Given the description of an element on the screen output the (x, y) to click on. 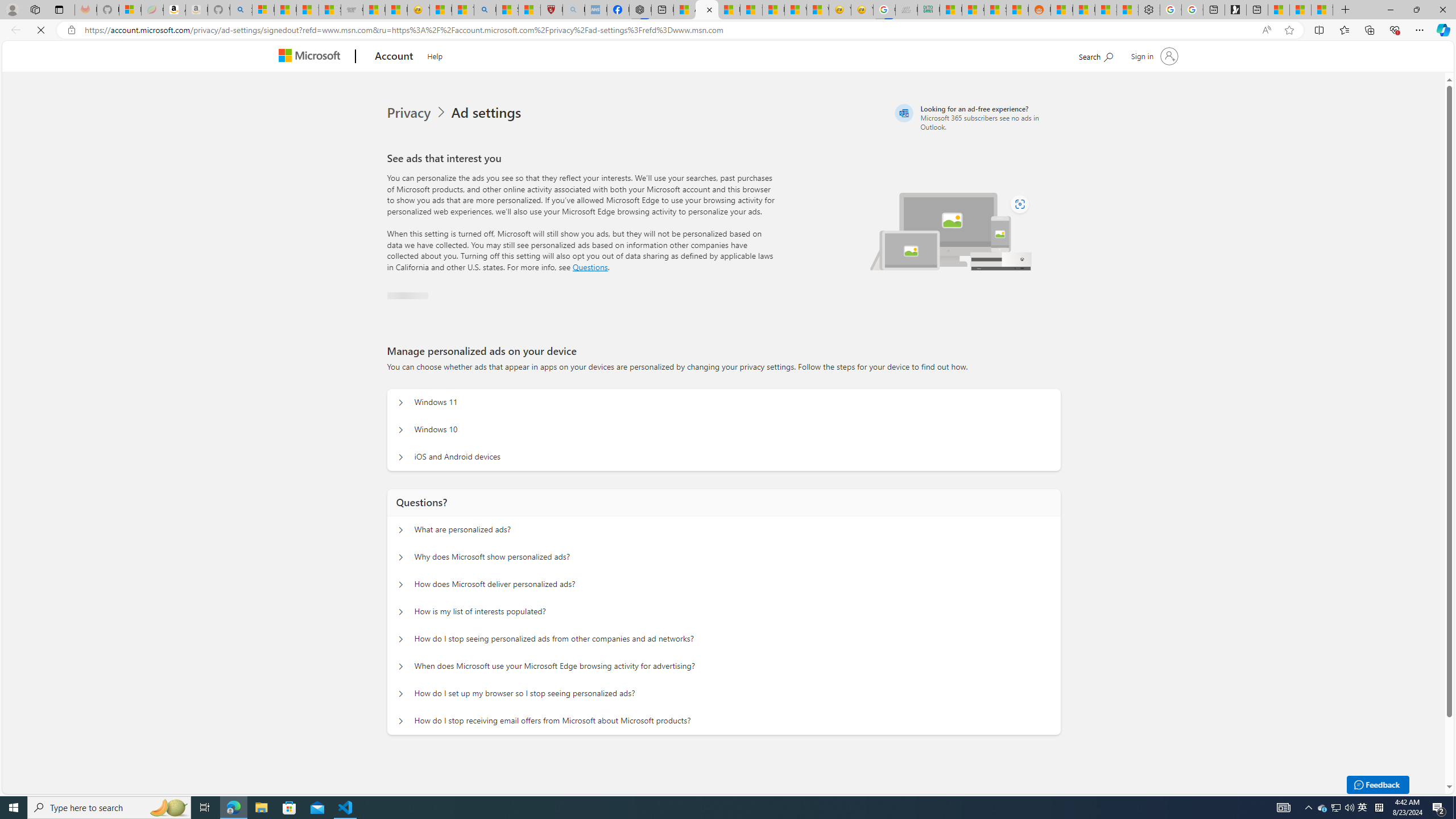
12 Popular Science Lies that Must be Corrected (529, 9)
Questions? Why does Microsoft show personalized ads? (401, 557)
These 3 Stocks Pay You More Than 5% to Own Them (1322, 9)
Questions? How does Microsoft deliver personalized ads? (401, 584)
